Given the description of an element on the screen output the (x, y) to click on. 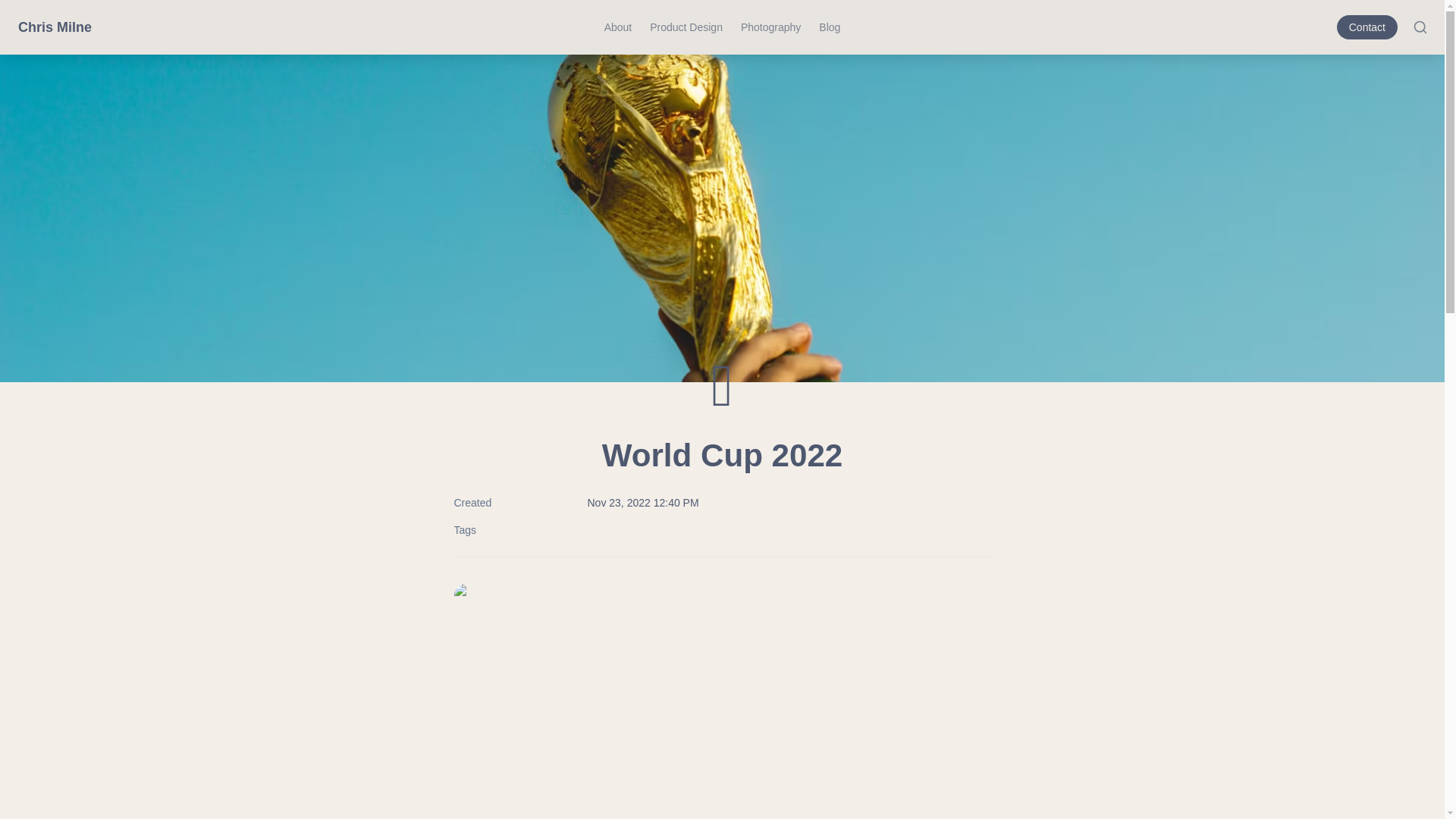
Chris Milne (54, 27)
Contact (1369, 27)
Product Design (686, 27)
Blog (828, 27)
Photography (770, 27)
About (618, 27)
